Given the description of an element on the screen output the (x, y) to click on. 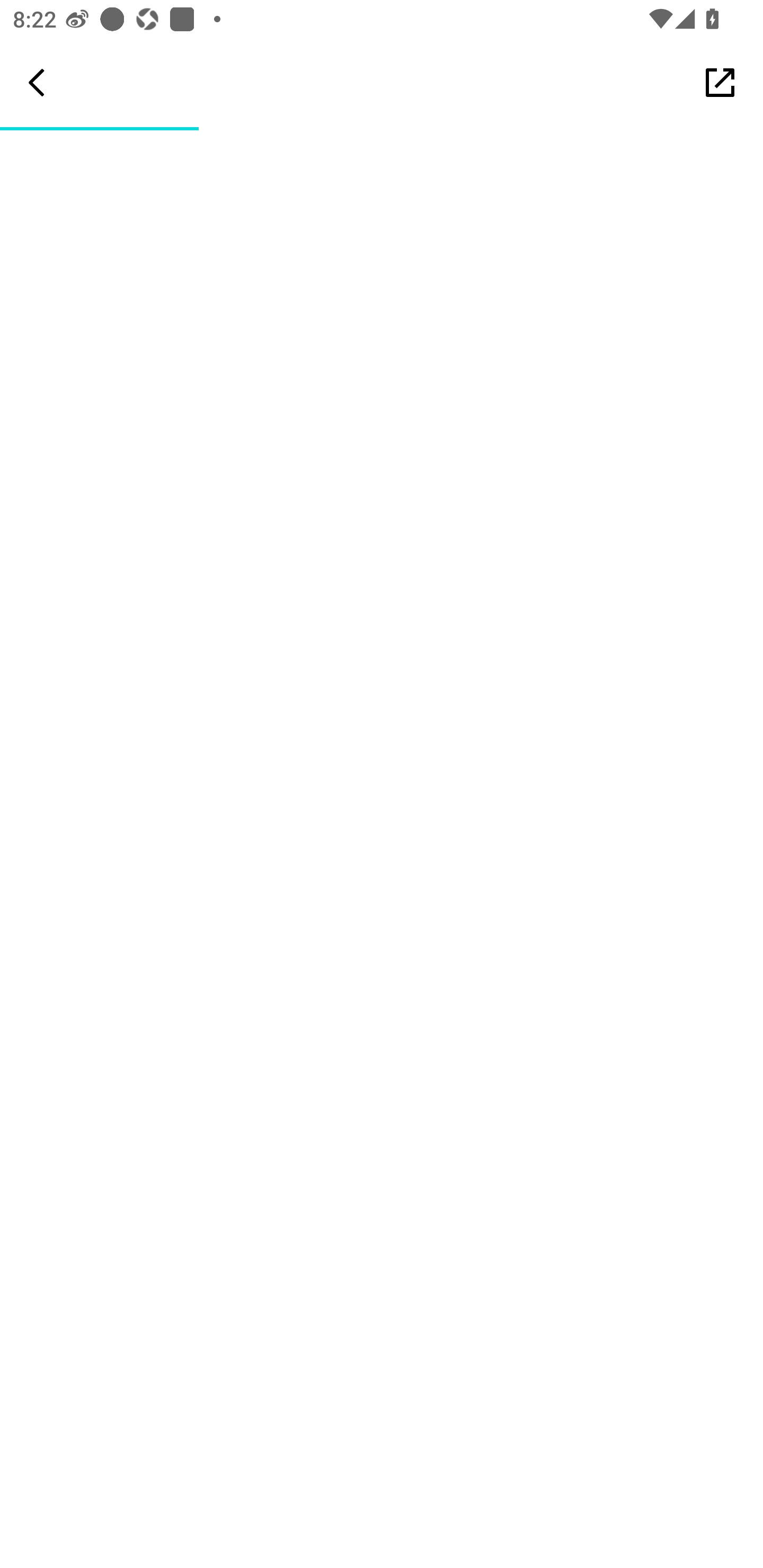
Navigate up (36, 82)
